Given the description of an element on the screen output the (x, y) to click on. 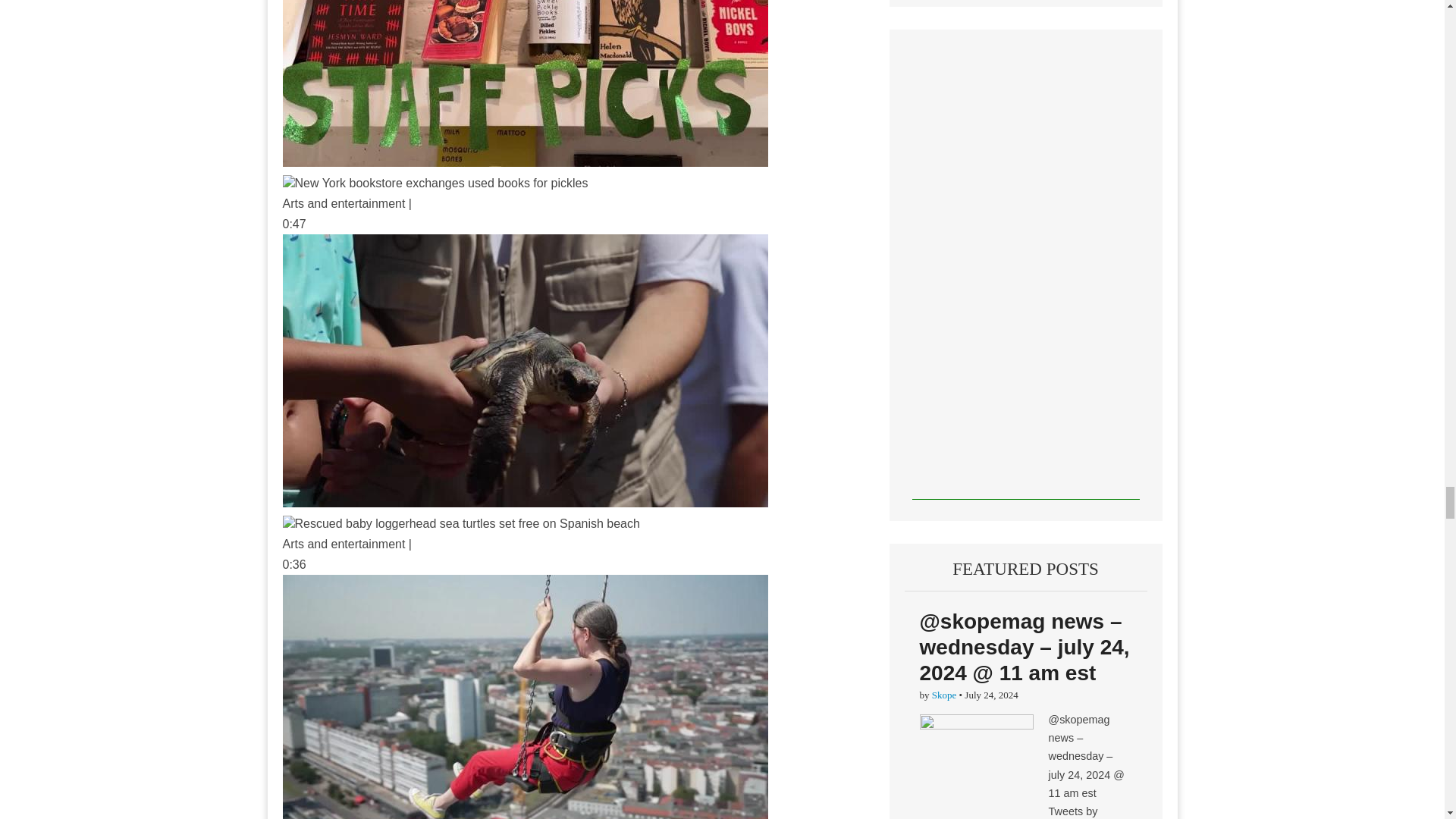
Posts by Skope (943, 695)
